Given the description of an element on the screen output the (x, y) to click on. 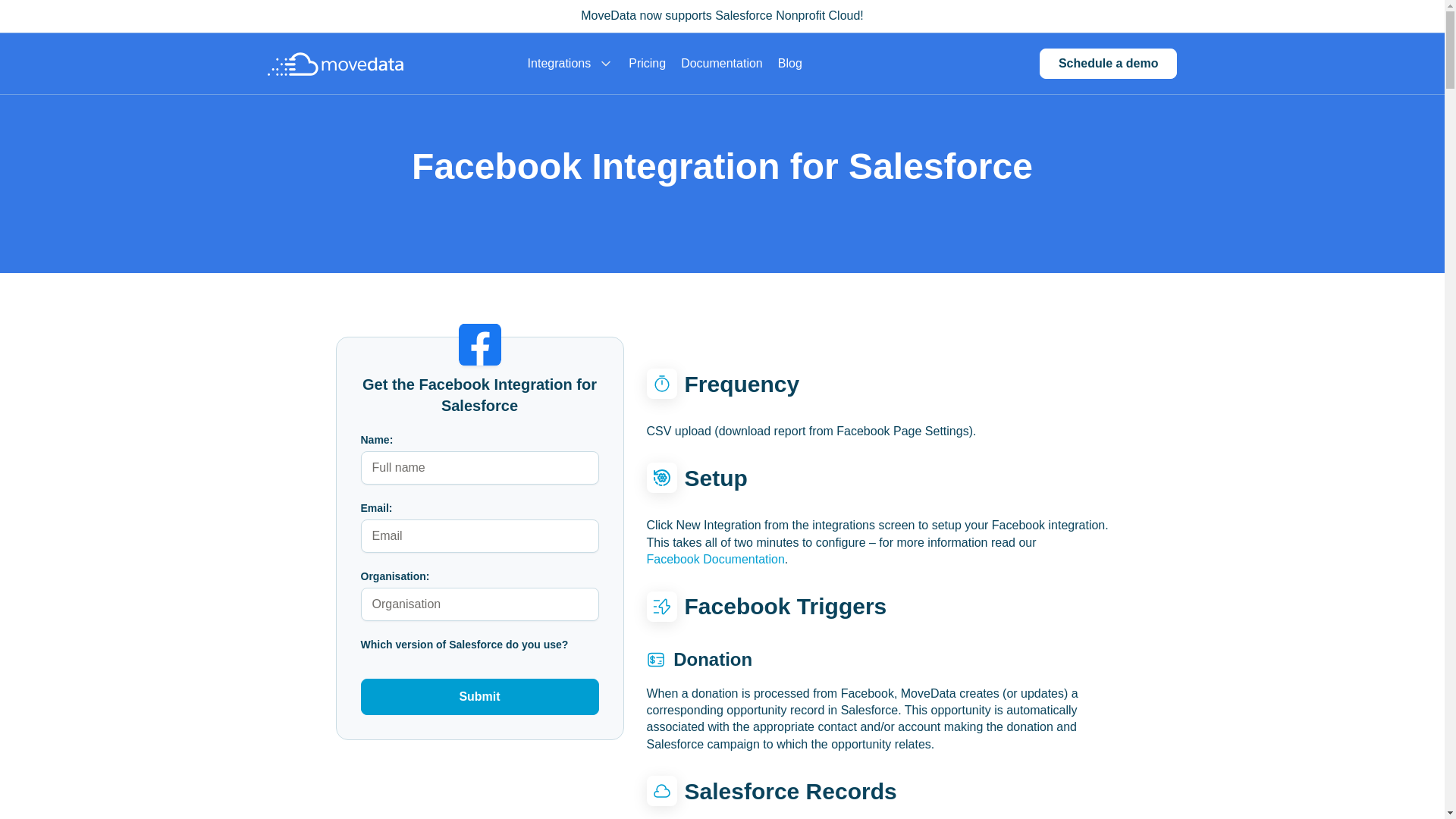
Blog (789, 63)
Schedule a demo (1108, 63)
Documentation (721, 63)
Submit (479, 696)
Facebook Documentation (715, 559)
Integrations (570, 63)
Pricing (646, 63)
Submit (479, 696)
